Given the description of an element on the screen output the (x, y) to click on. 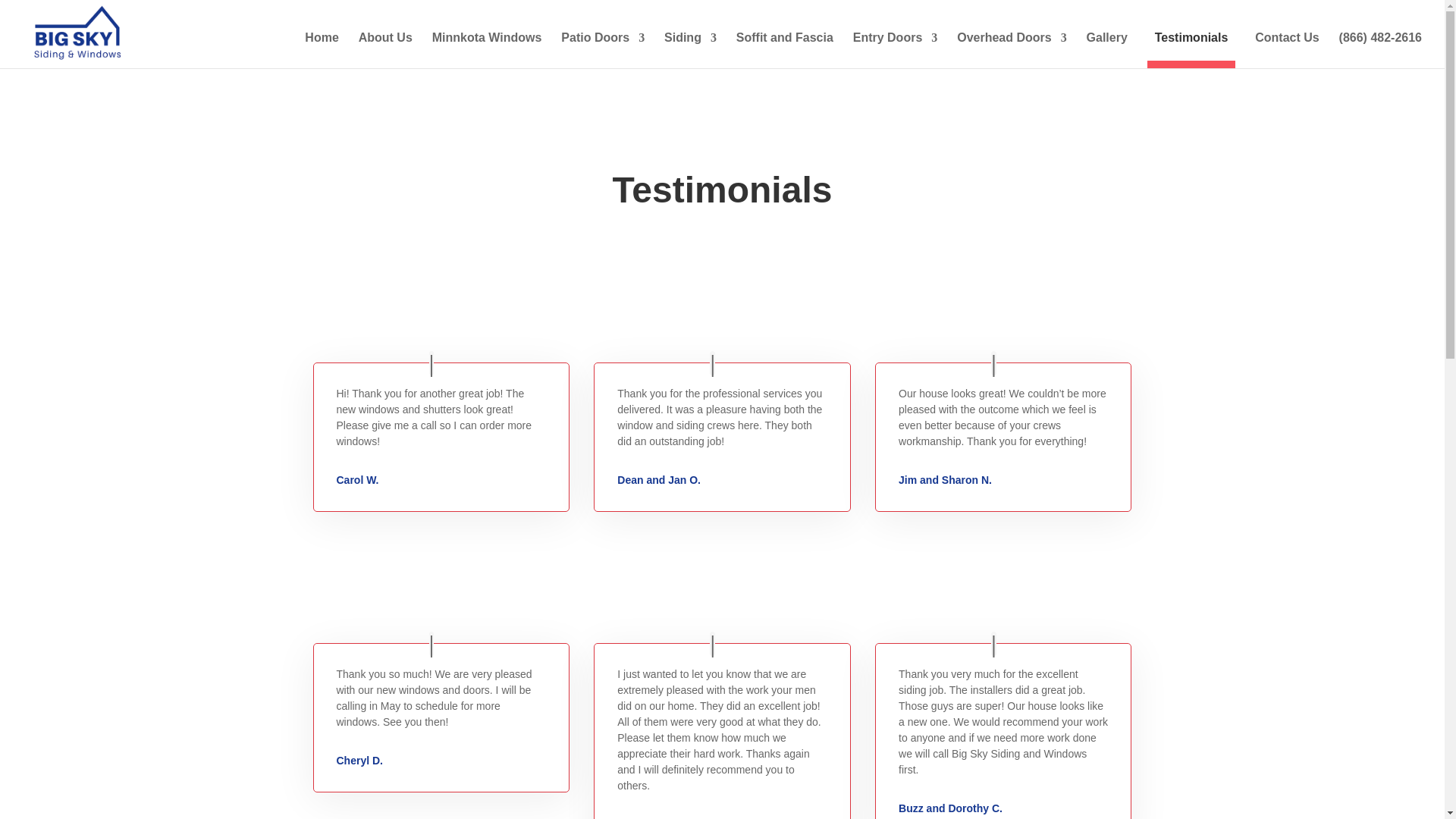
Overhead Doors (1010, 49)
Soffit and Fascia (784, 49)
Entry Doors (895, 49)
Home (320, 49)
Siding (689, 49)
Minnkota Windows (486, 49)
About Us (385, 49)
Patio Doors (602, 49)
